Given the description of an element on the screen output the (x, y) to click on. 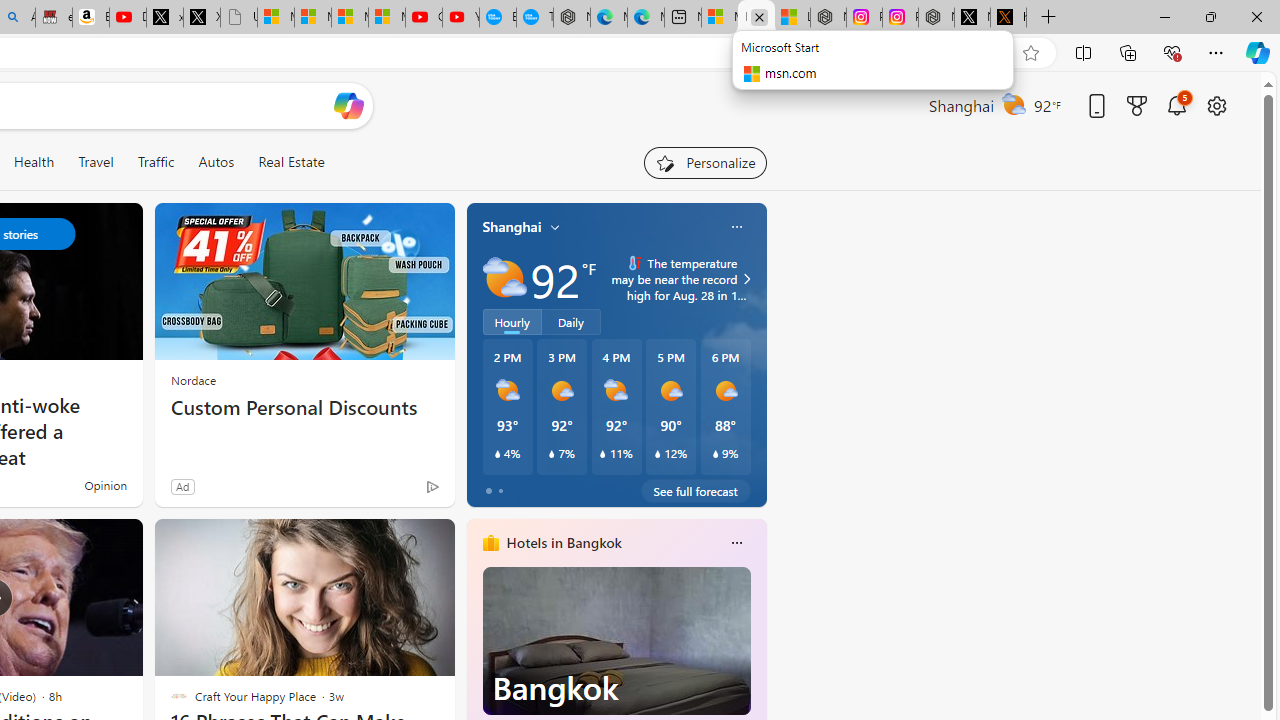
Nordace (@NordaceOfficial) / X (971, 17)
Microsoft rewards (1137, 105)
Custom Personal Discounts (304, 407)
Class: icon-img (736, 542)
Travel (95, 161)
Health (33, 162)
